Given the description of an element on the screen output the (x, y) to click on. 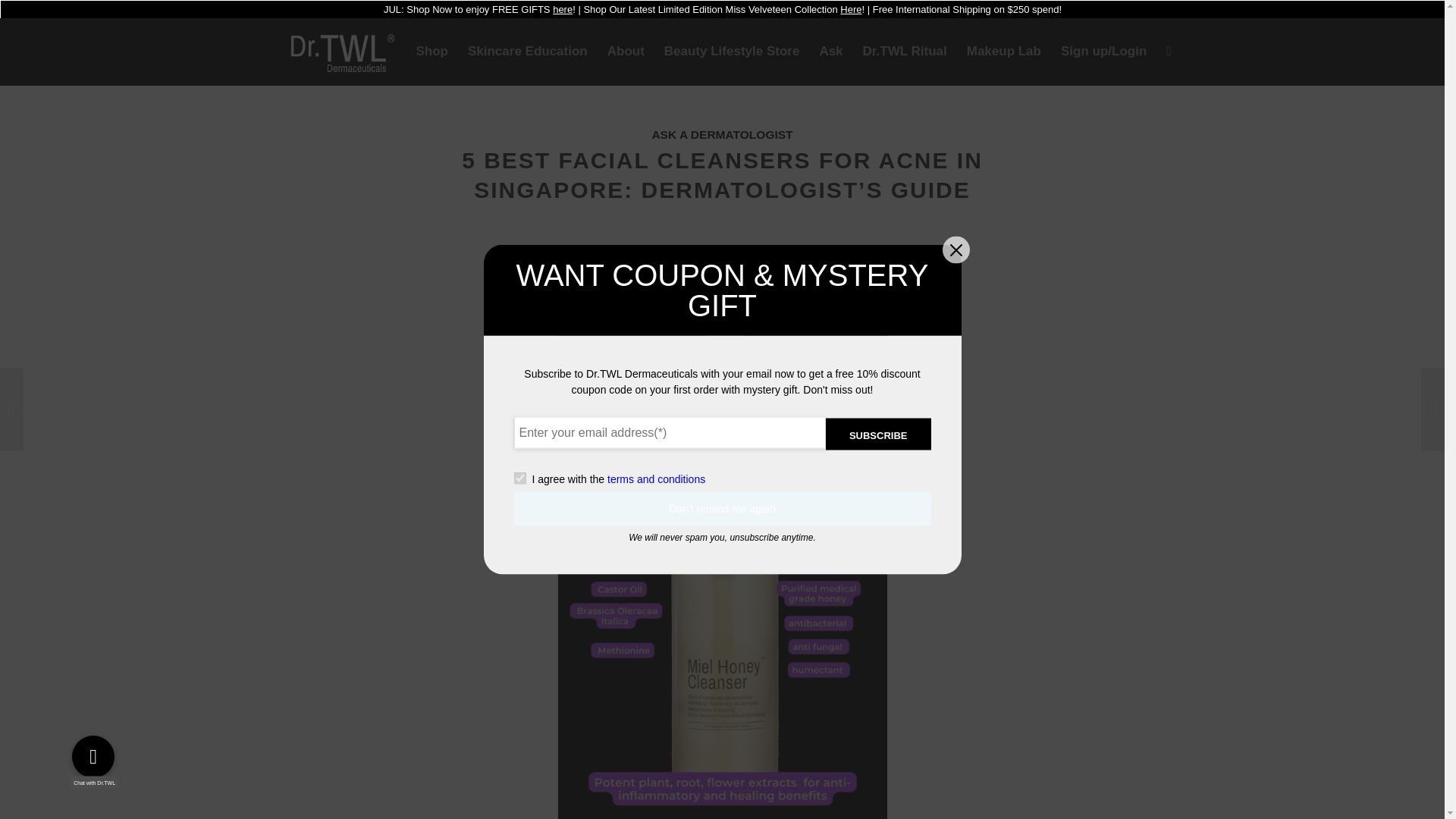
JUL: Shop Now to enjoy FREE GIFTS here! (479, 9)
on (519, 478)
